Given the description of an element on the screen output the (x, y) to click on. 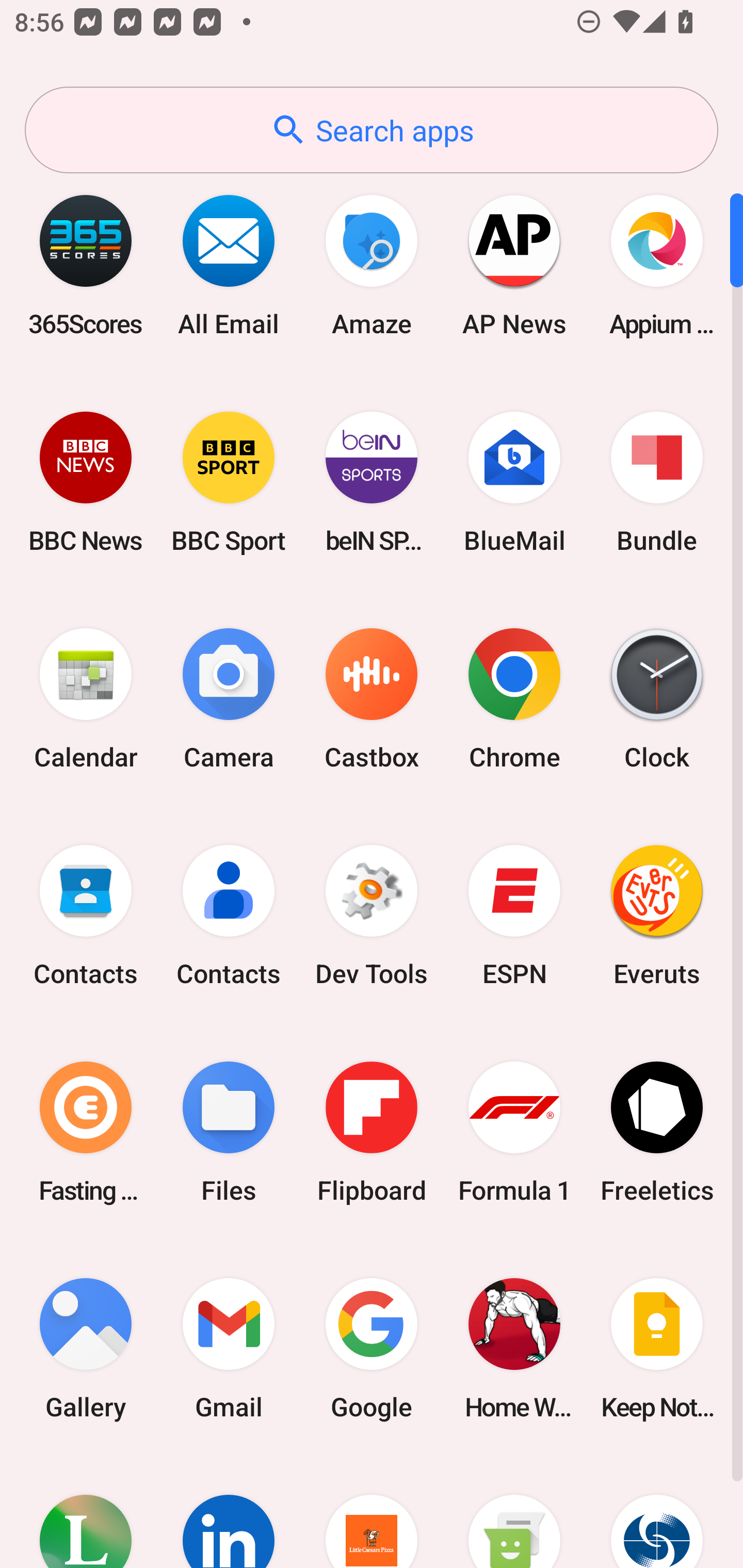
  Search apps (371, 130)
365Scores (85, 264)
All Email (228, 264)
Amaze (371, 264)
AP News (514, 264)
Appium Settings (656, 264)
BBC News (85, 482)
BBC Sport (228, 482)
beIN SPORTS (371, 482)
BlueMail (514, 482)
Bundle (656, 482)
Calendar (85, 699)
Camera (228, 699)
Castbox (371, 699)
Chrome (514, 699)
Clock (656, 699)
Contacts (85, 915)
Contacts (228, 915)
Dev Tools (371, 915)
ESPN (514, 915)
Everuts (656, 915)
Fasting Coach (85, 1131)
Files (228, 1131)
Flipboard (371, 1131)
Formula 1 (514, 1131)
Freeletics (656, 1131)
Gallery (85, 1348)
Gmail (228, 1348)
Google (371, 1348)
Home Workout (514, 1348)
Keep Notes (656, 1348)
